Given the description of an element on the screen output the (x, y) to click on. 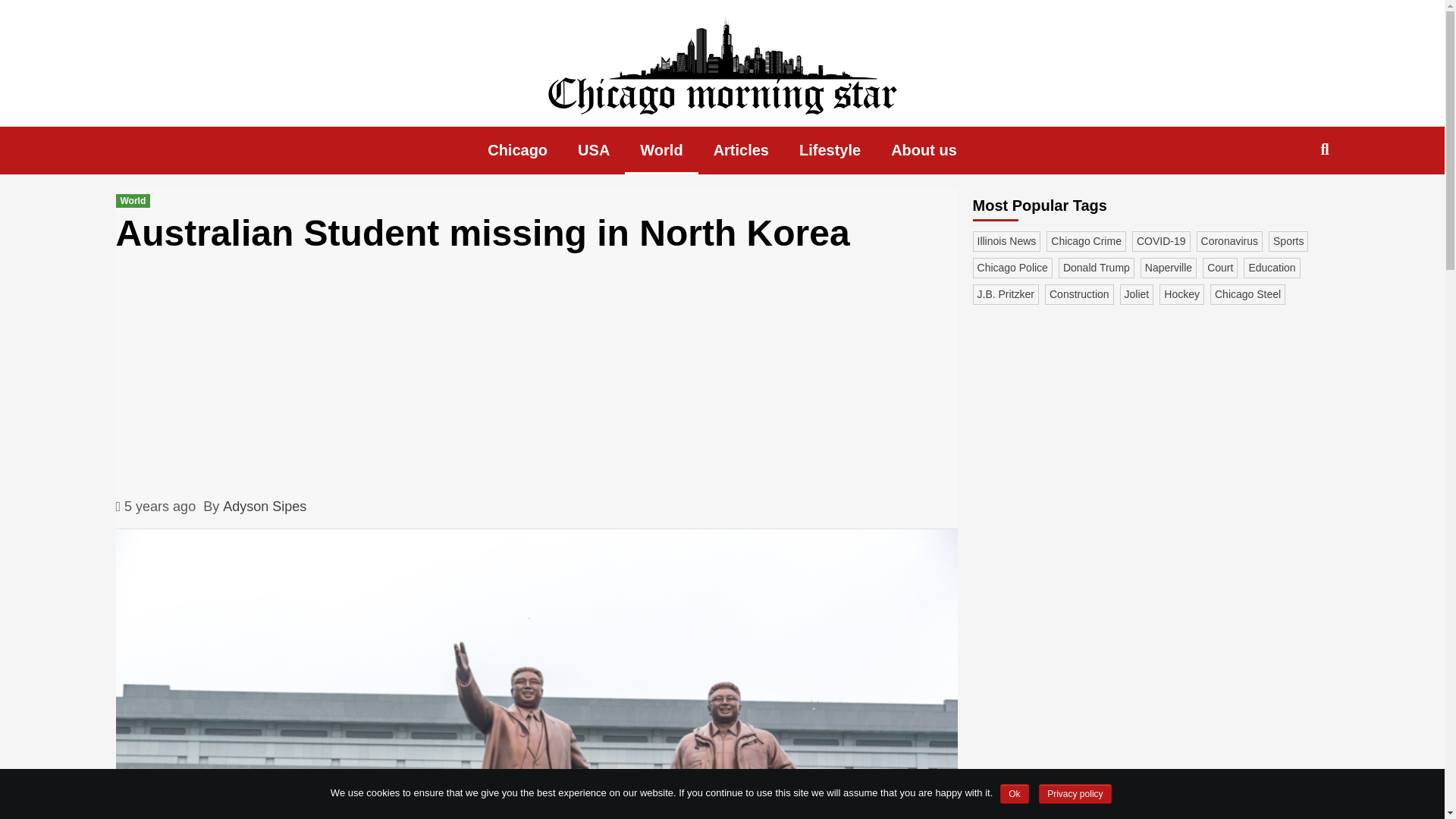
World (660, 150)
Chicago Morning Star (390, 140)
Chicago (516, 150)
Adyson Sipes (263, 506)
Articles (741, 150)
World (132, 201)
Lifestyle (830, 150)
USA (593, 150)
About us (924, 150)
